Given the description of an element on the screen output the (x, y) to click on. 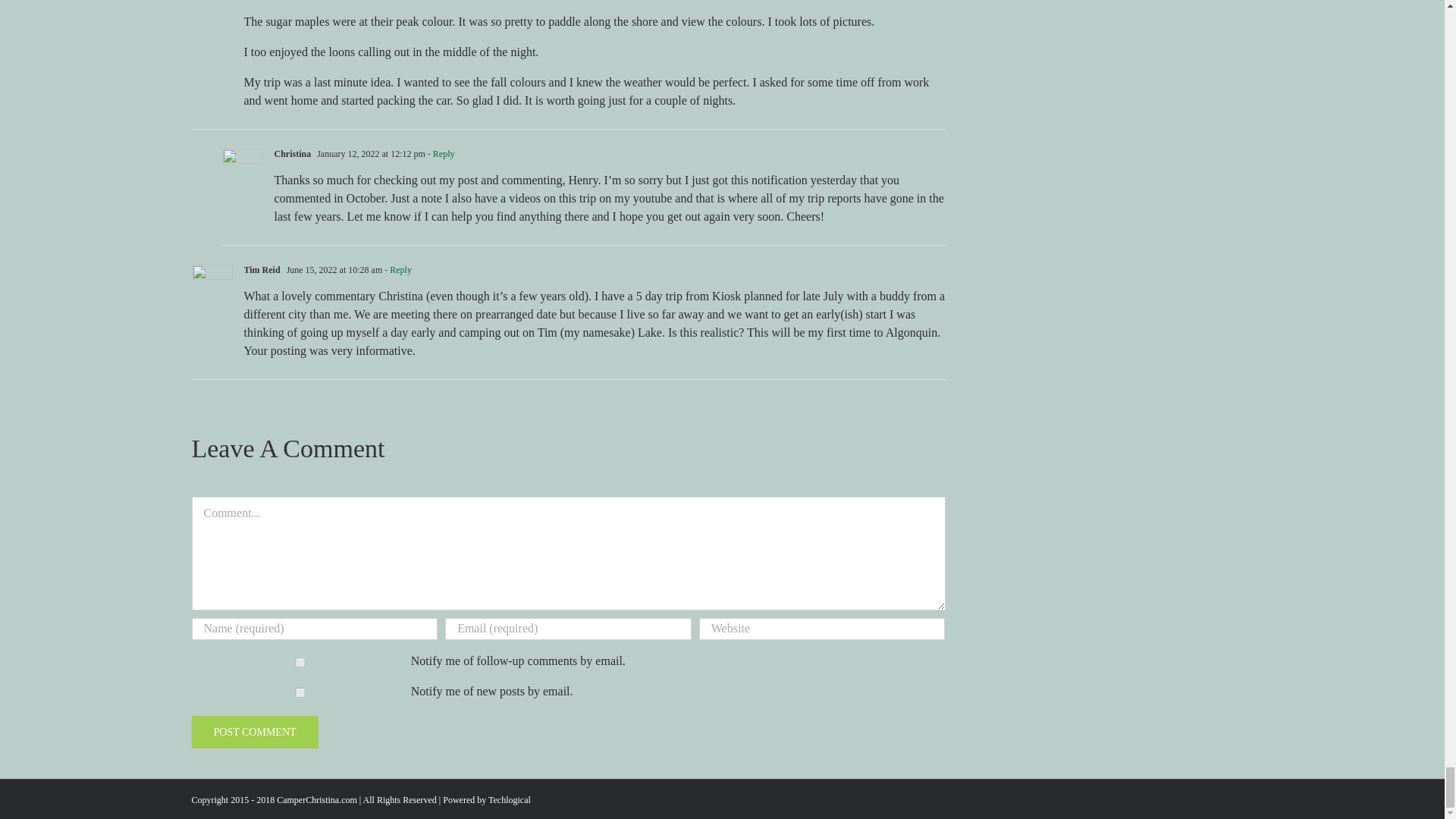
Post Comment (253, 731)
subscribe (298, 692)
subscribe (298, 662)
